Given the description of an element on the screen output the (x, y) to click on. 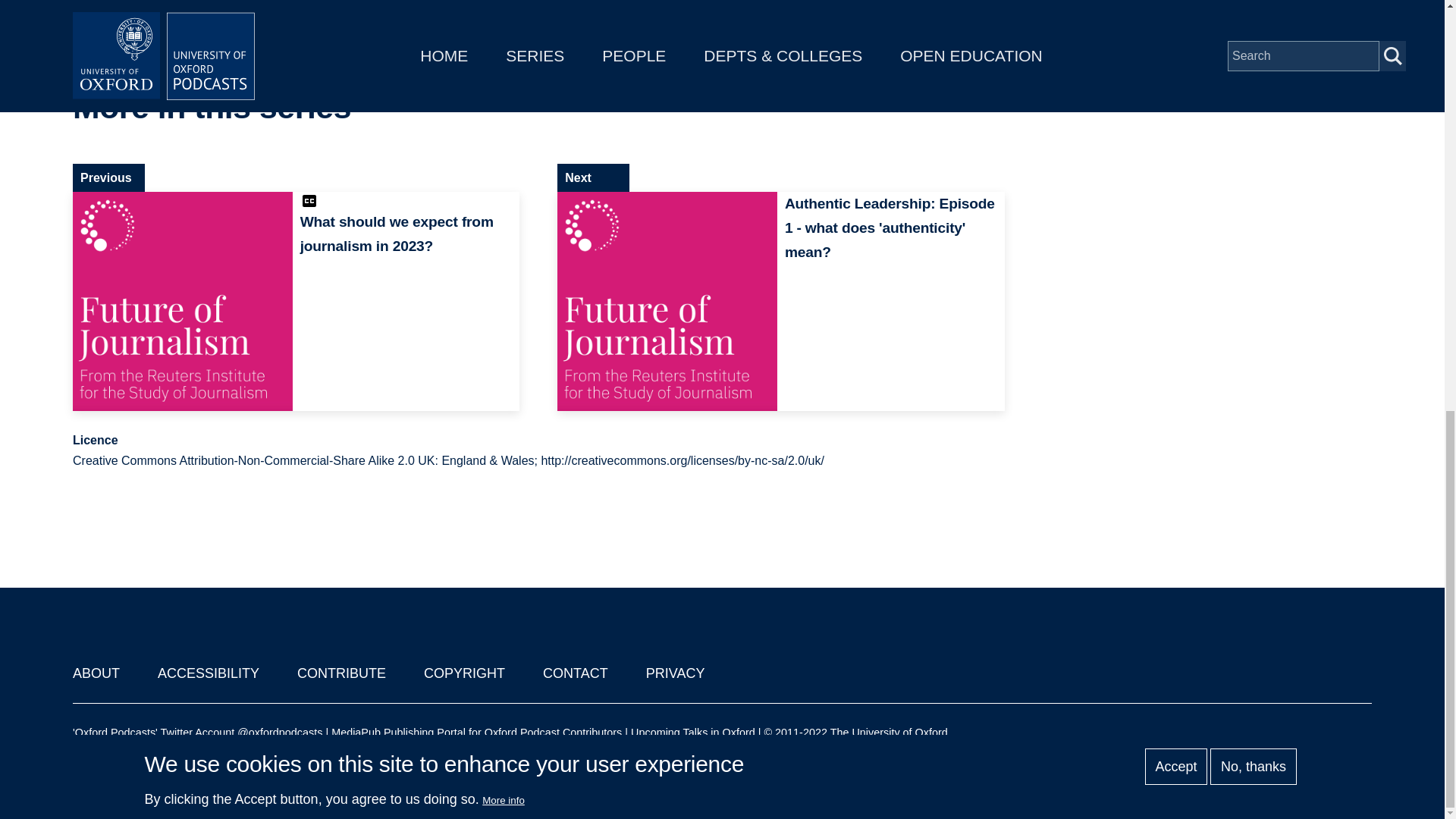
ACCESSIBILITY (208, 672)
Download Transcript (1217, 56)
ABOUT (95, 672)
What should we expect from journalism in 2023? (295, 301)
View Series (959, 107)
CONTRIBUTE (341, 672)
CONTACT (575, 672)
COPYRIGHT (464, 672)
Download Audio (1217, 14)
